Given the description of an element on the screen output the (x, y) to click on. 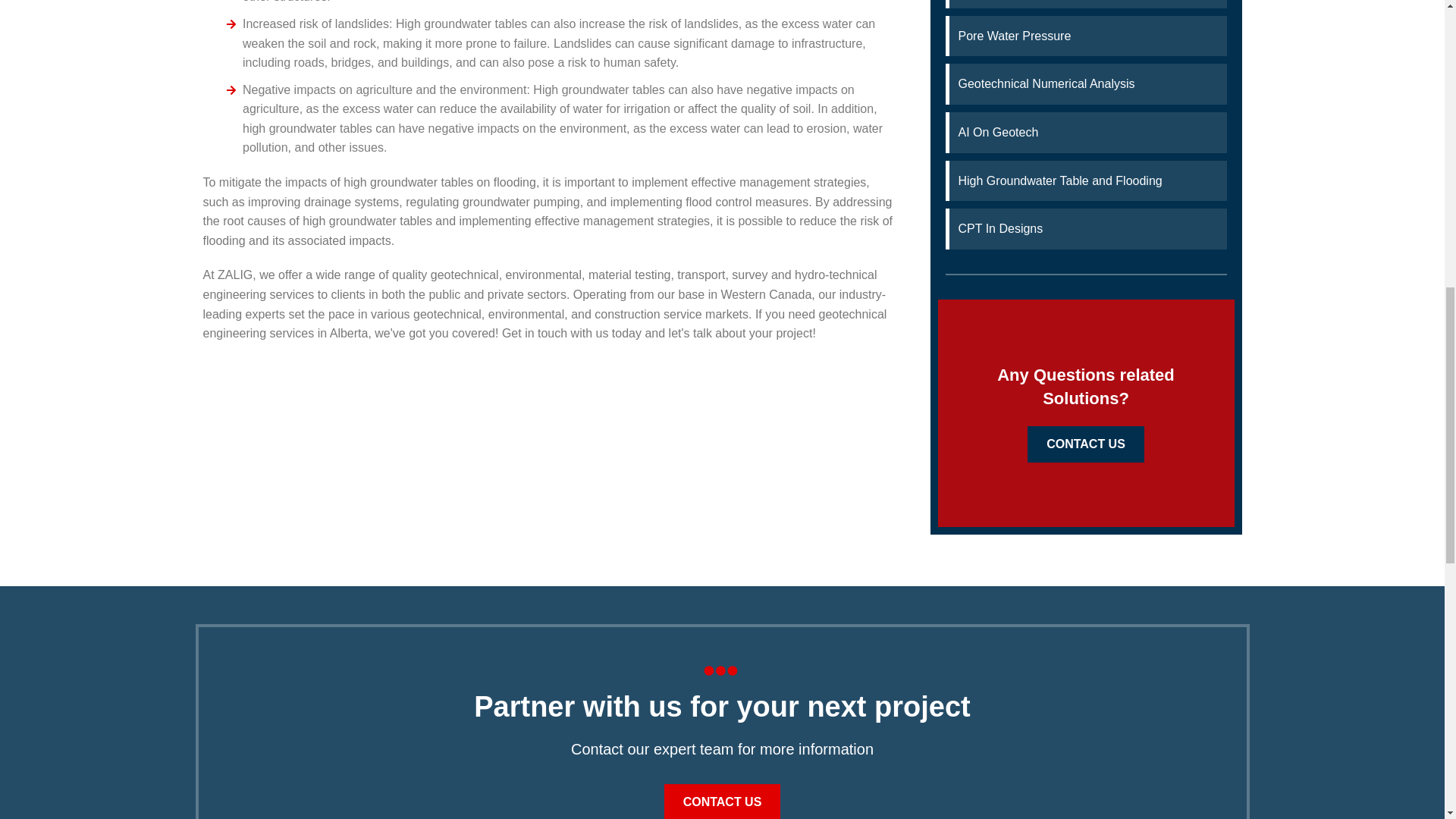
High Groundwater Table and Flooding (1087, 180)
AI On Geotech (1087, 132)
CPT In Designs (1087, 229)
Geotechnical Numerical Analysis (1087, 84)
Pore Water Pressure (1087, 35)
